Given the description of an element on the screen output the (x, y) to click on. 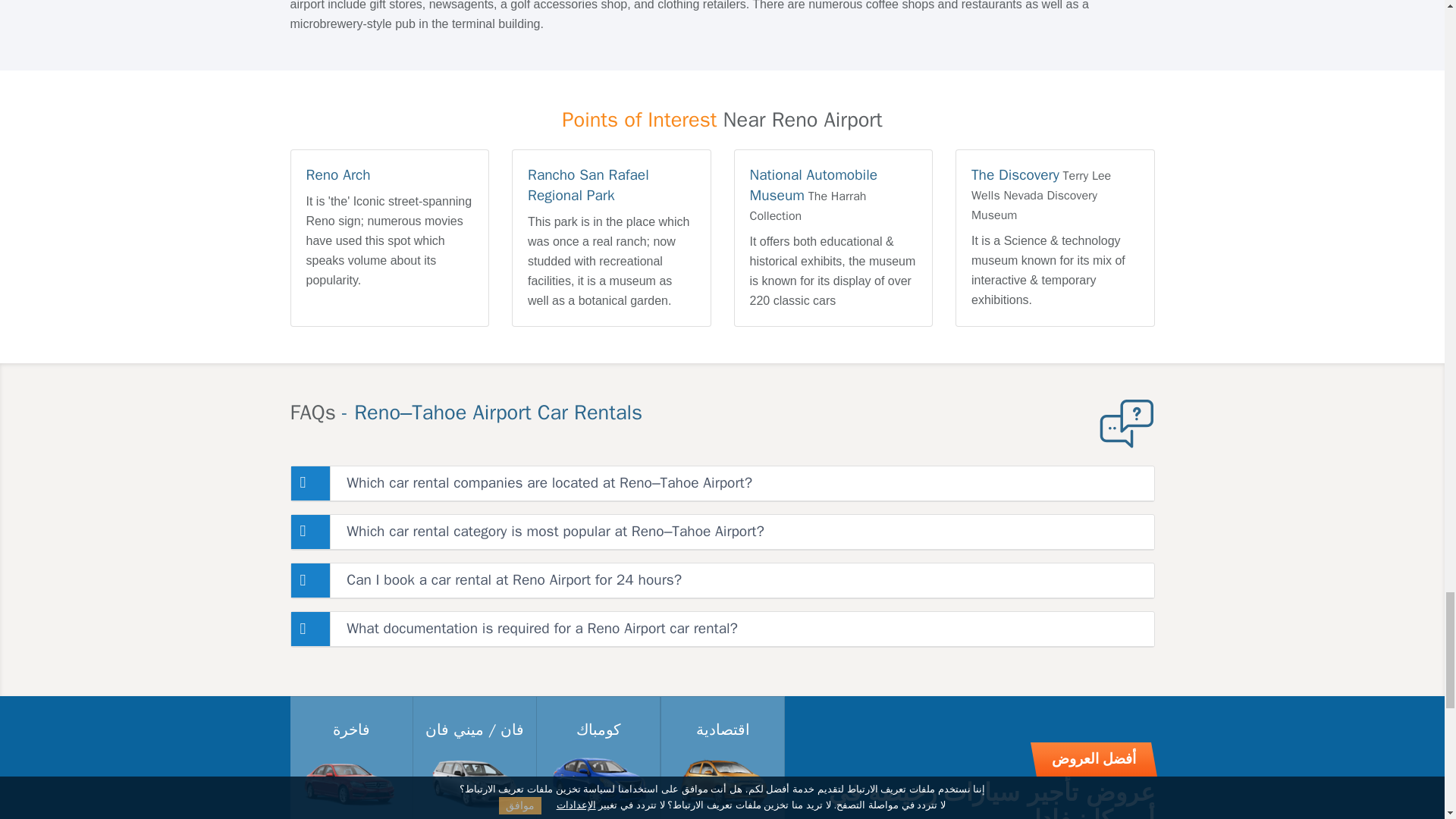
Can I book a car rental at Reno Airport for 24 hours? (721, 580)
